Given the description of an element on the screen output the (x, y) to click on. 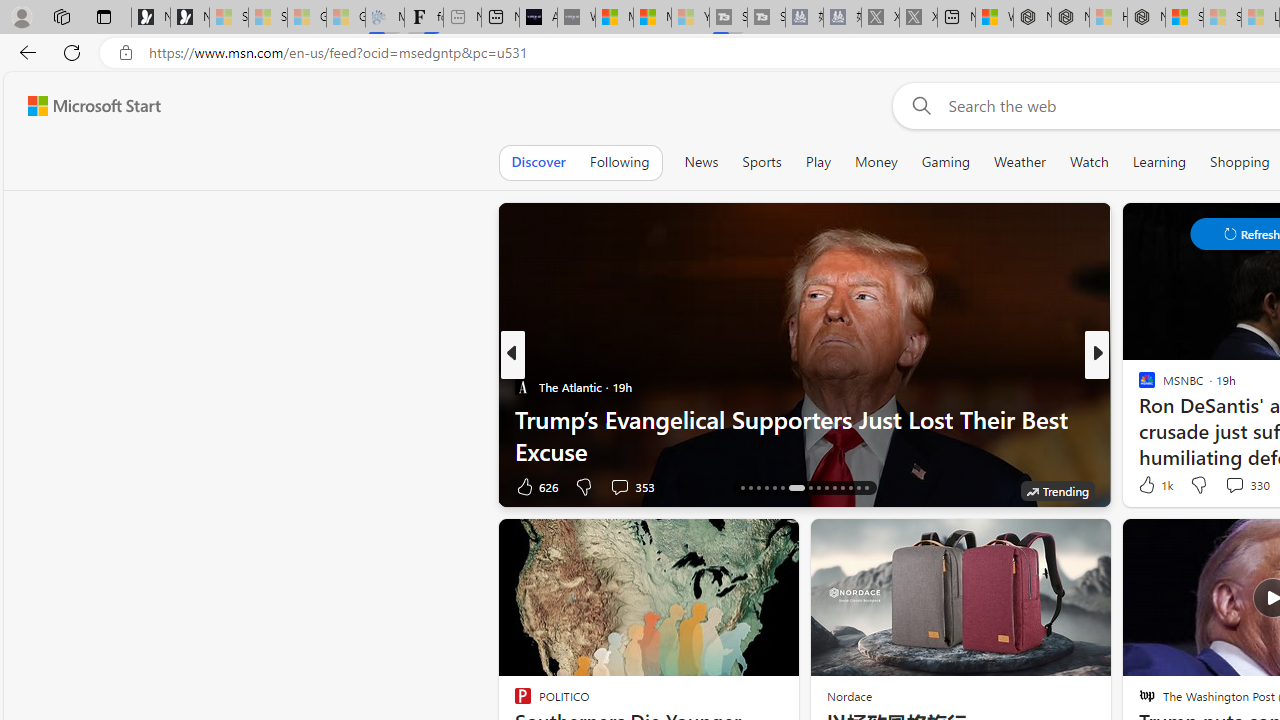
View comments 1 Comment (1234, 486)
Newsweek (1138, 386)
View comments 330 Comment (1246, 484)
Business Insider (1138, 386)
5 Like (1145, 486)
Sports (761, 162)
18 Like (1149, 486)
View comments 213 Comment (11, 485)
AutomationID: tab-22 (795, 487)
AutomationID: tab-19 (765, 487)
Nordace - Nordace Siena Is Not An Ordinary Backpack (1145, 17)
Microsoft Start Sports (614, 17)
